Given the description of an element on the screen output the (x, y) to click on. 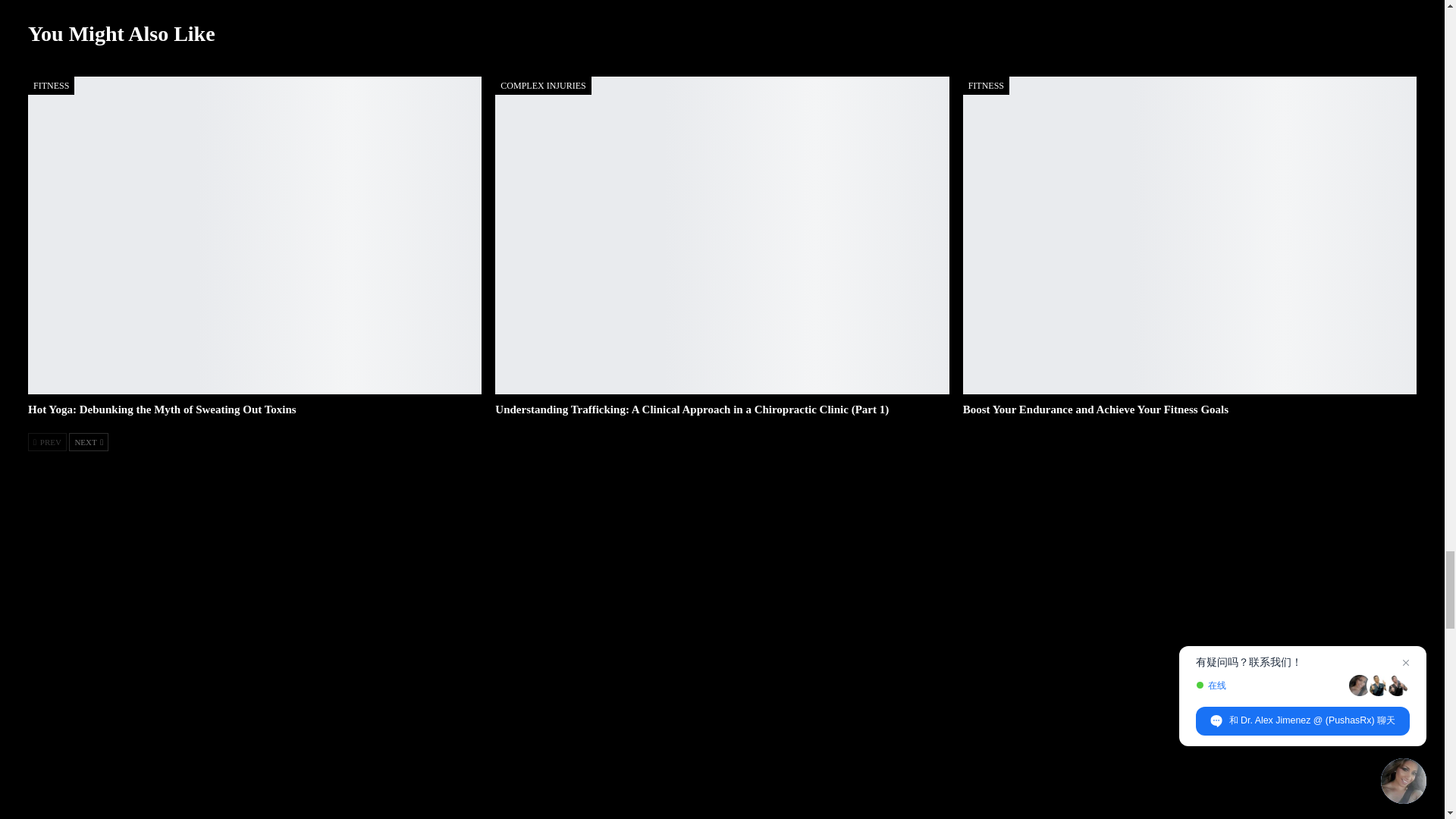
Boost Your Endurance and Achieve Your Fitness Goals (1095, 409)
Hot Yoga: Debunking the Myth of Sweating Out Toxins (162, 409)
